Given the description of an element on the screen output the (x, y) to click on. 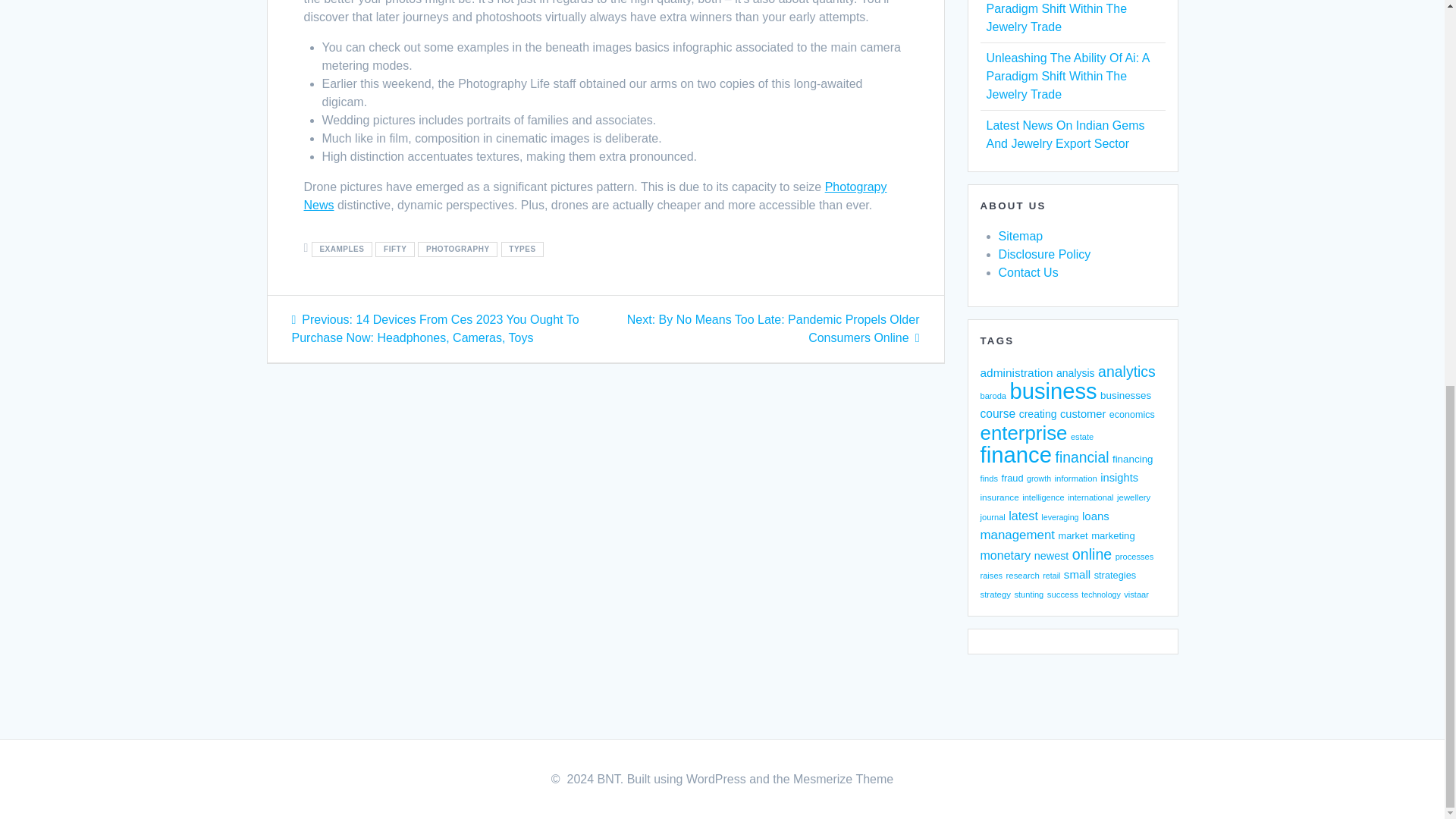
creating (1038, 413)
estate (1081, 436)
customer (1082, 413)
Photograpy News (594, 195)
finance (1015, 454)
analytics (1126, 371)
PHOTOGRAPHY (457, 248)
TYPES (521, 248)
